Given the description of an element on the screen output the (x, y) to click on. 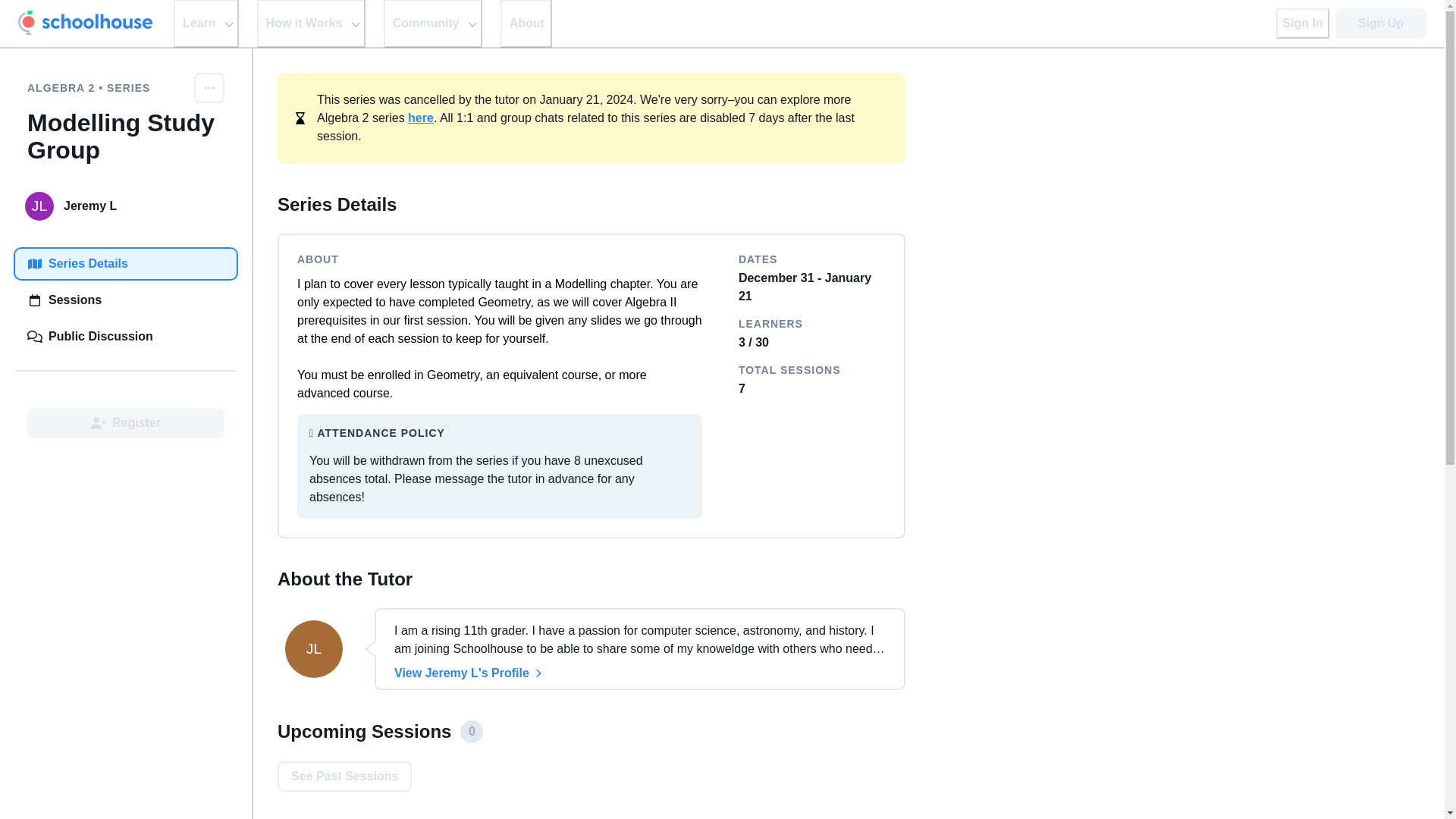
Learn (205, 23)
Sign In (1302, 23)
Community (432, 23)
Schoolhouse.world: peer tutoring, for free. (84, 22)
About (525, 23)
How it Works (311, 23)
About (526, 23)
Learn (205, 23)
Schoolhouse.world: peer tutoring, for free. (84, 23)
